Given the description of an element on the screen output the (x, y) to click on. 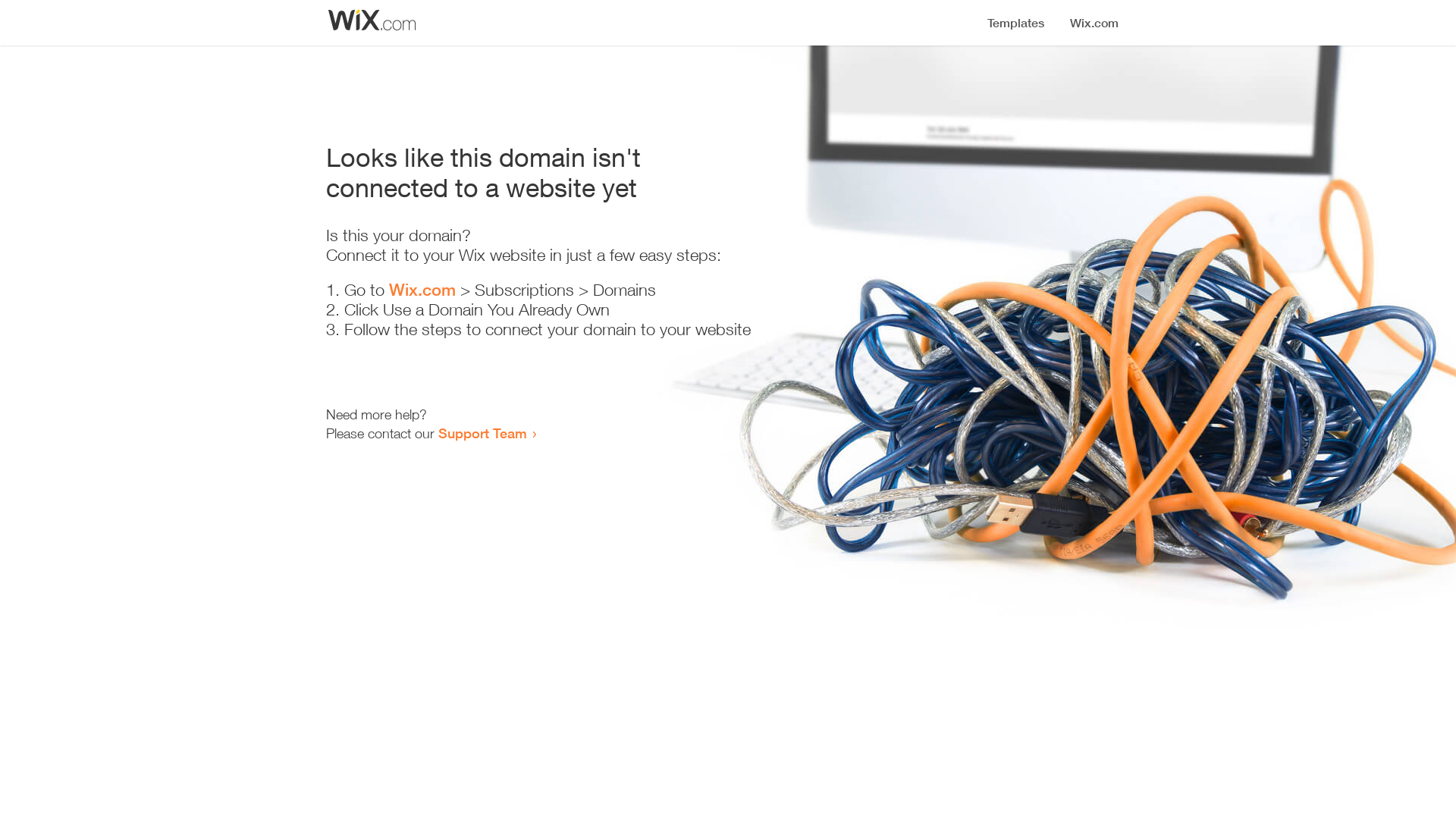
Wix.com Element type: text (422, 289)
Support Team Element type: text (482, 432)
